Given the description of an element on the screen output the (x, y) to click on. 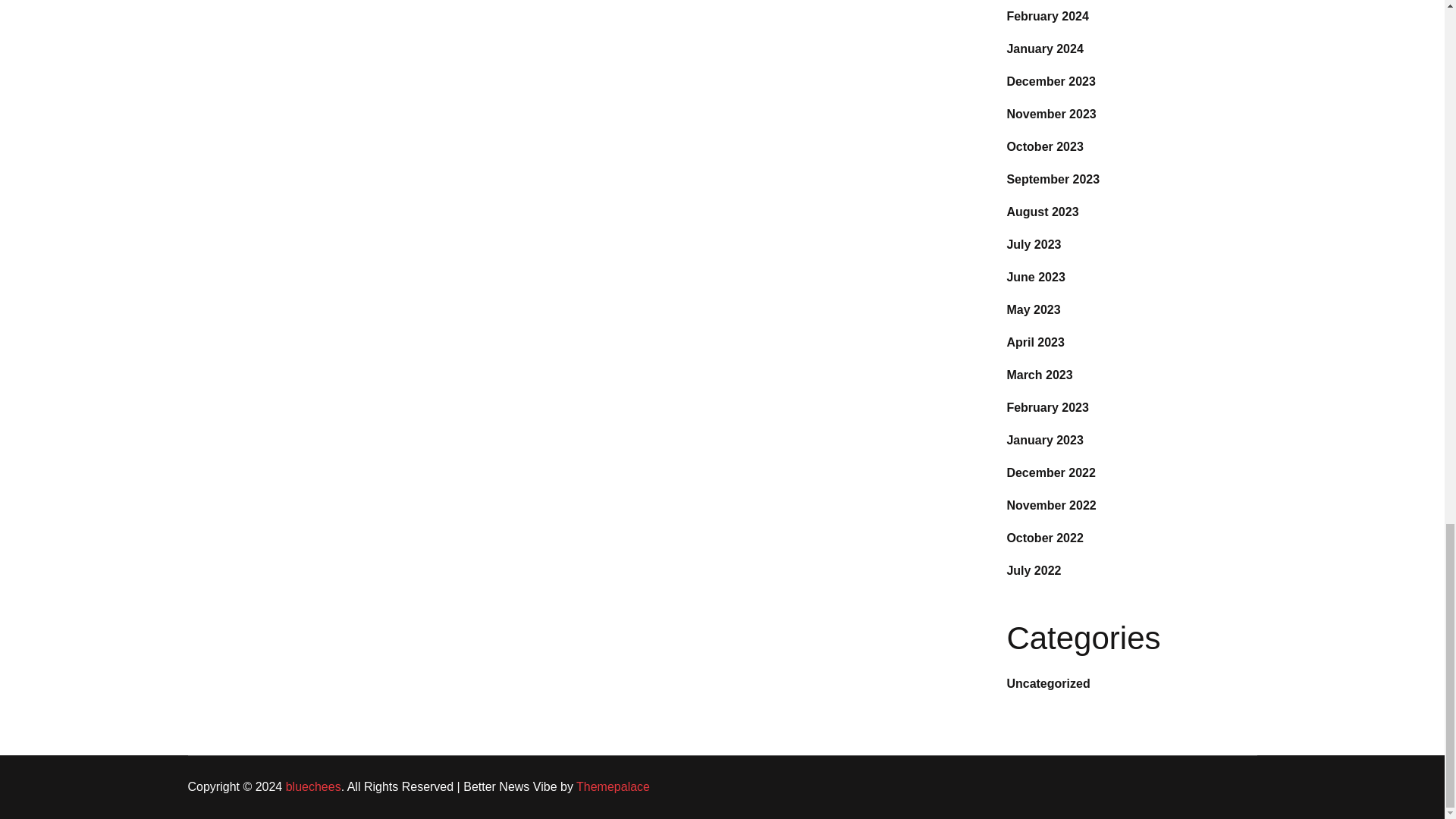
April 2023 (1035, 341)
February 2024 (1047, 15)
May 2023 (1032, 309)
August 2023 (1042, 211)
January 2024 (1044, 48)
February 2023 (1047, 407)
December 2022 (1050, 472)
November 2023 (1051, 113)
June 2023 (1035, 277)
December 2023 (1050, 81)
